Given the description of an element on the screen output the (x, y) to click on. 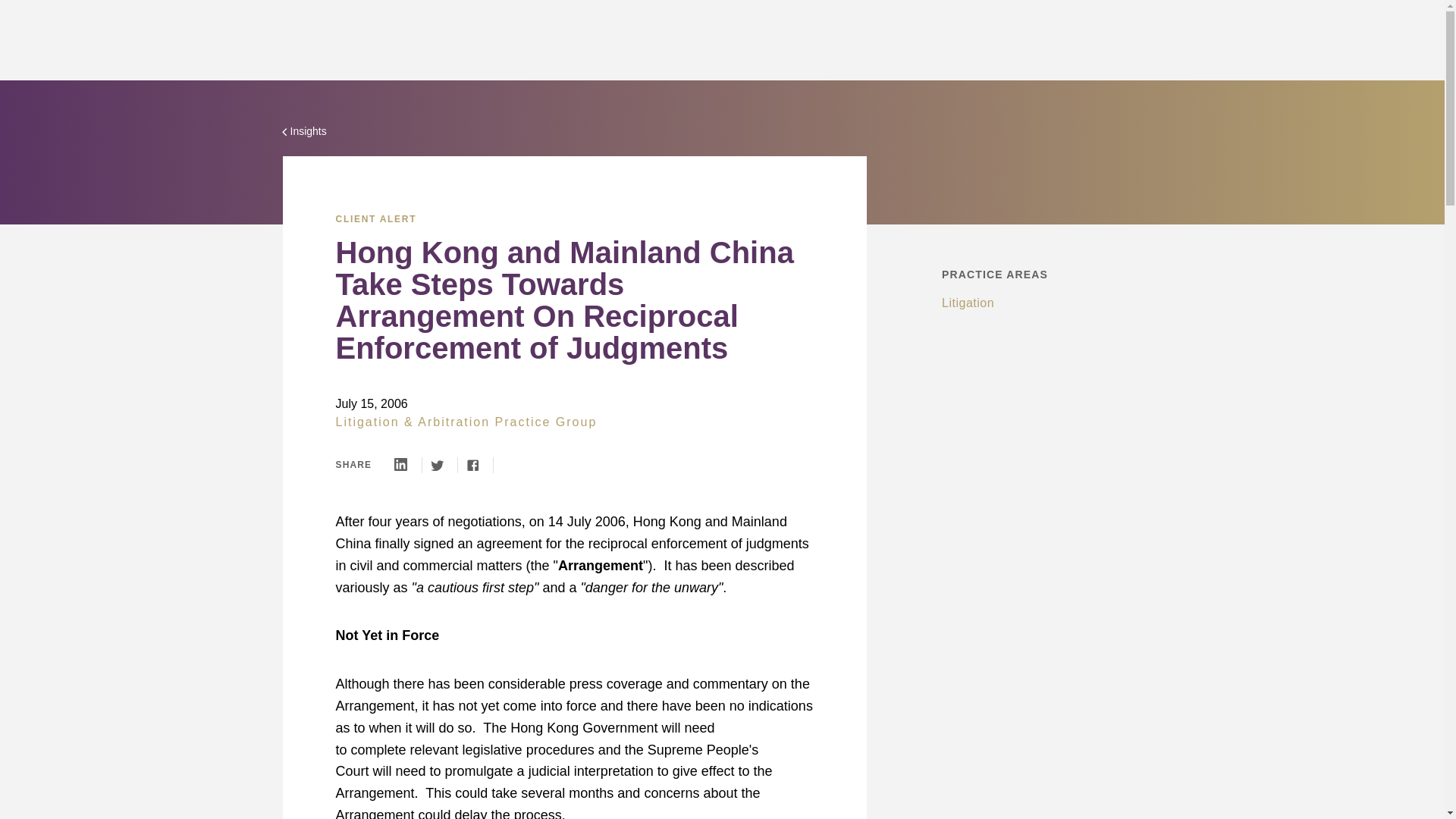
Litigation (968, 302)
